Given the description of an element on the screen output the (x, y) to click on. 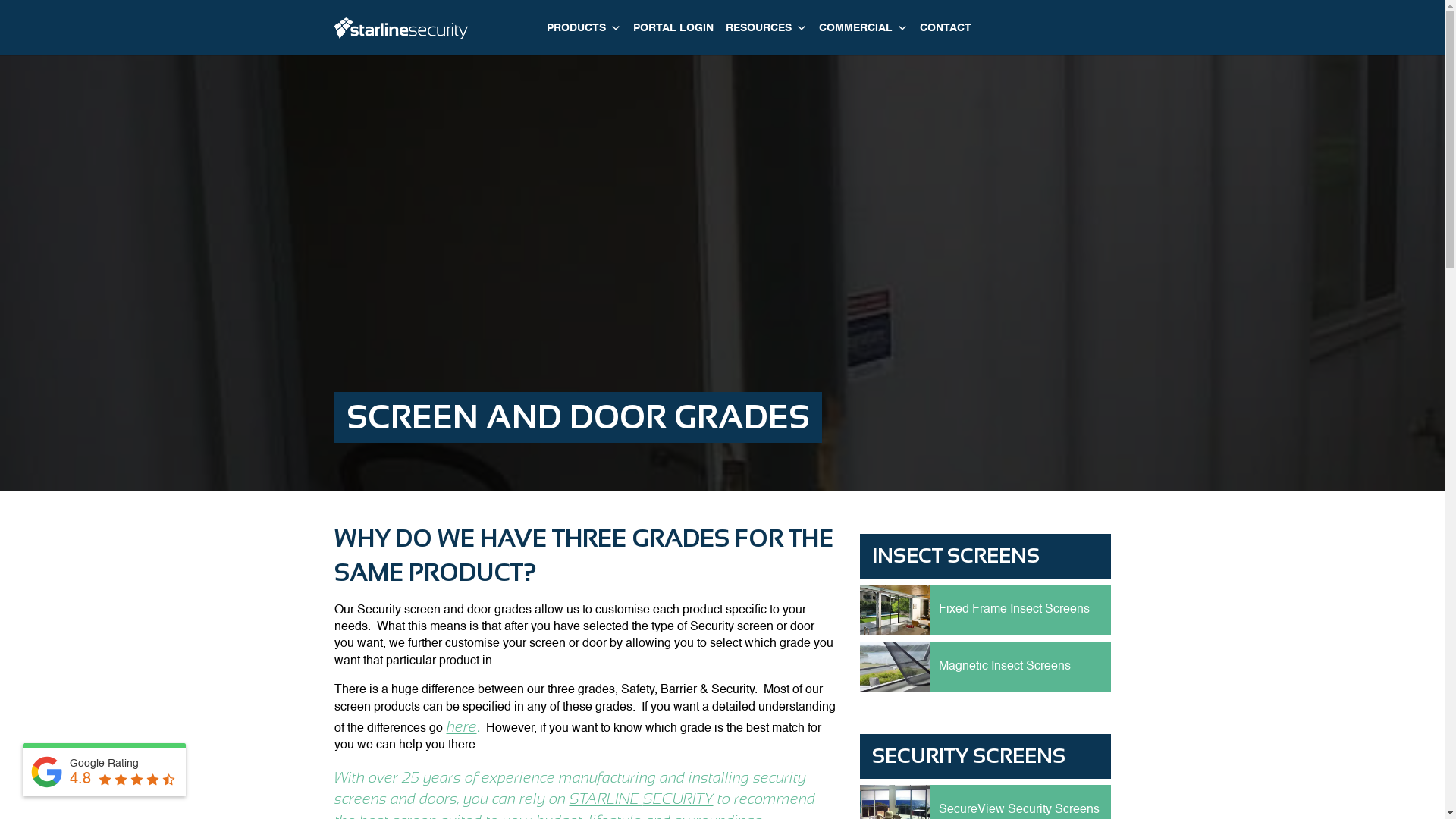
SecureView Security Screens Element type: text (1018, 809)
RESOURCES Element type: text (765, 27)
PORTAL LOGIN Element type: text (672, 27)
COMMERCIAL Element type: text (862, 27)
Magnetic Insect Screens Element type: text (1004, 666)
Fixed Frame Insect Screens Element type: text (1013, 609)
PRODUCTS Element type: text (582, 27)
here Element type: text (460, 726)
CONTACT Element type: text (944, 27)
STARLINE SECURITY Element type: text (640, 798)
